Given the description of an element on the screen output the (x, y) to click on. 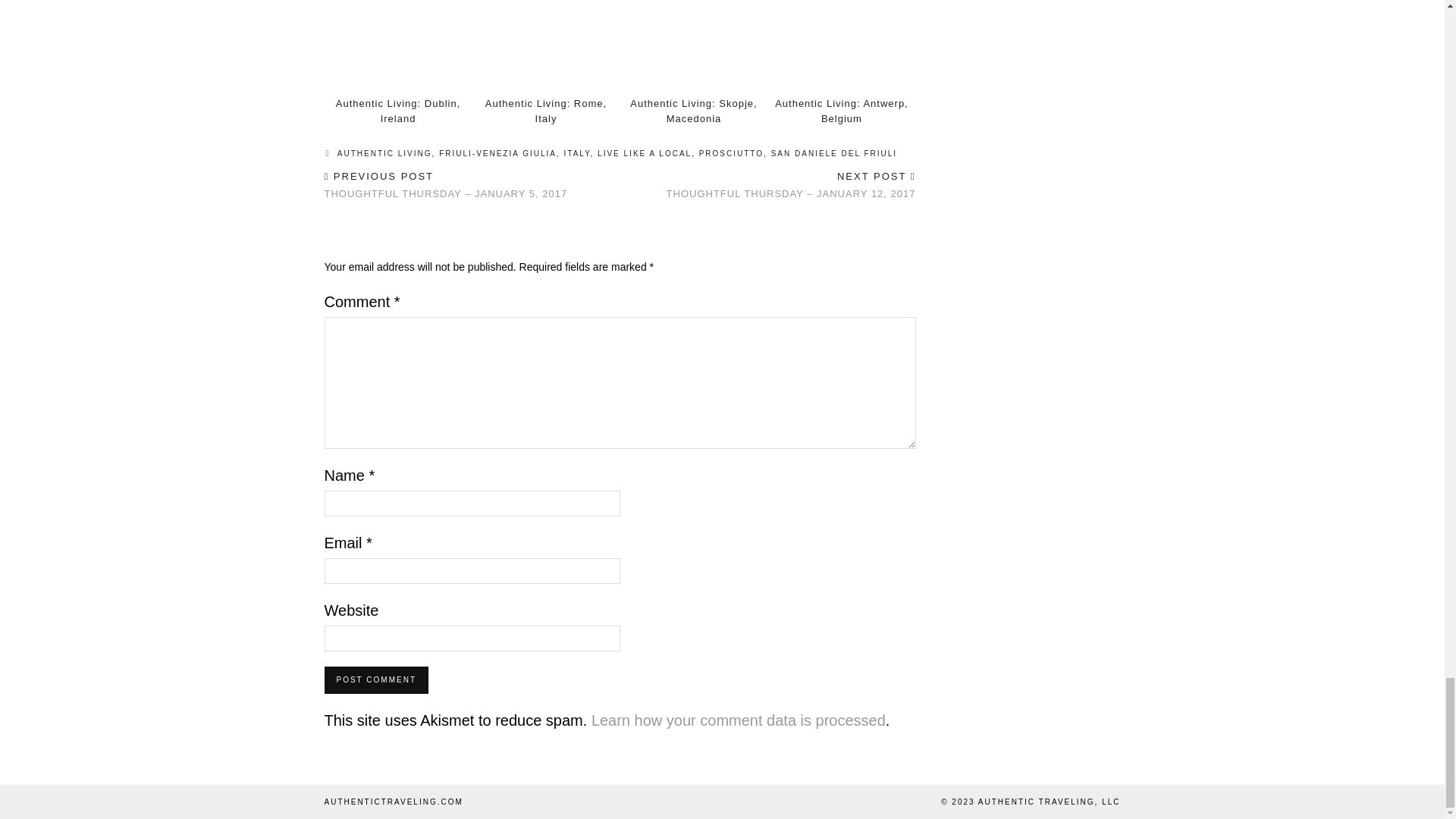
Authentic Living: Antwerp, Belgium (841, 45)
Authentic Living: Skopje, Macedonia (693, 110)
Authentic Living: Rome, Italy (544, 45)
Authentic Living: Antwerp, Belgium (841, 110)
FRIULI-VENEZIA GIULIA (497, 153)
Authentic Living: Dublin, Ireland (397, 45)
Authentic Living: Dublin, Ireland (398, 110)
Authentic Living: Skopje, Macedonia (693, 45)
Post Comment (376, 679)
Authentic Living: Rome, Italy (545, 110)
Authentic Living: Rome, Italy (545, 110)
Authentic Living: Dublin, Ireland (398, 110)
ITALY (577, 153)
Authentic Living: Skopje, Macedonia (693, 110)
AUTHENTIC LIVING (384, 153)
